Given the description of an element on the screen output the (x, y) to click on. 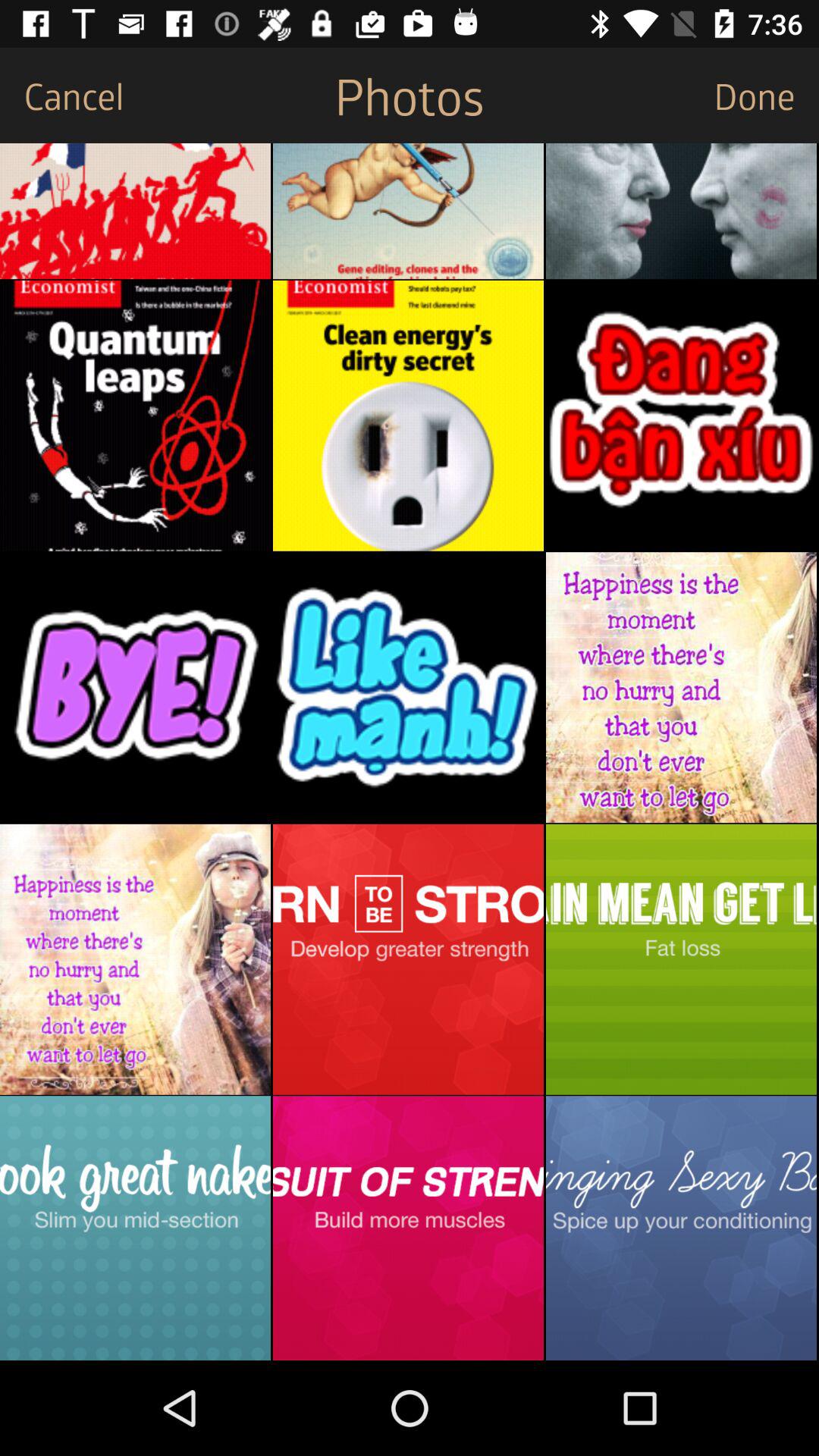
view photo (135, 1227)
